Given the description of an element on the screen output the (x, y) to click on. 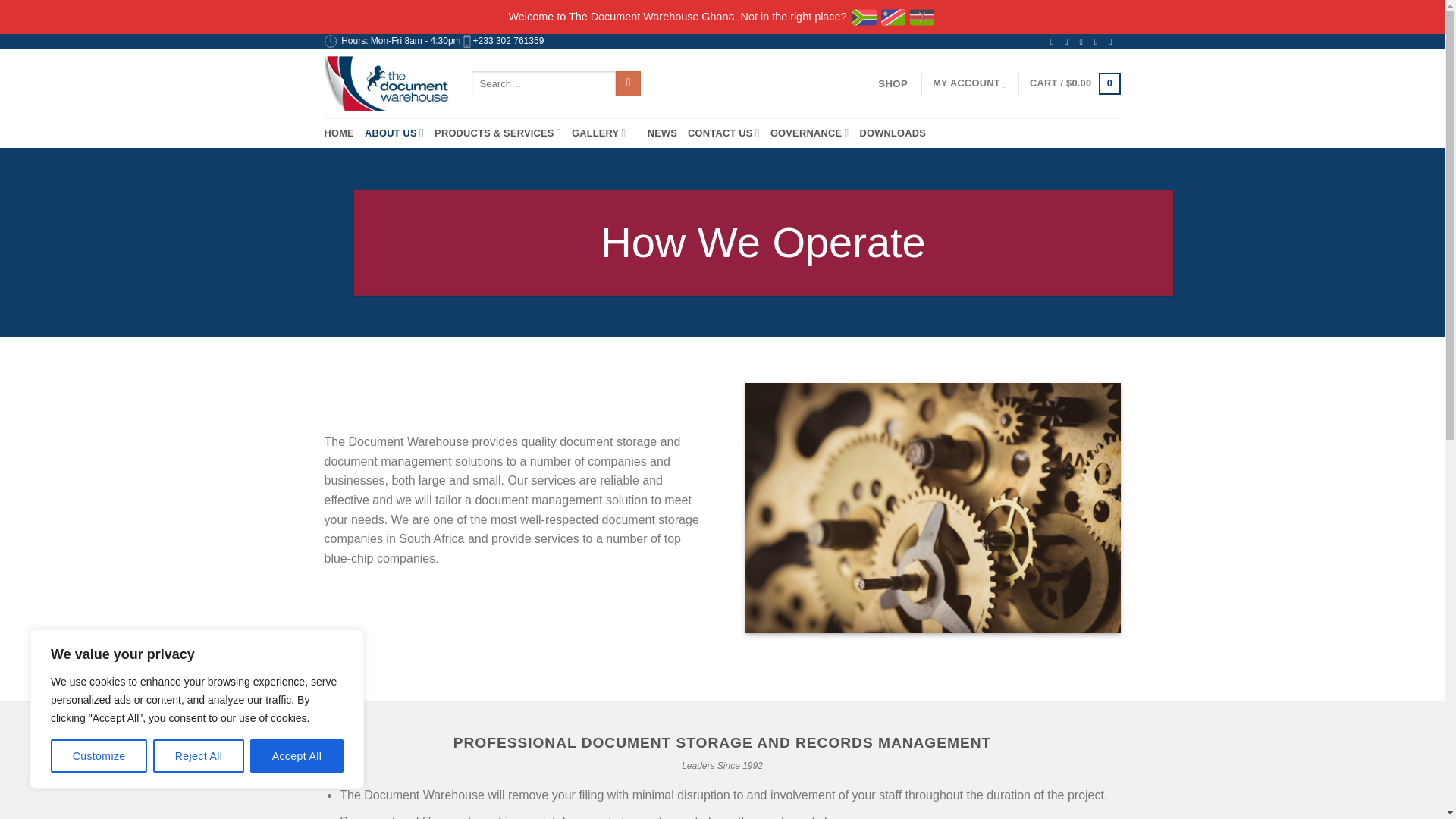
Reject All (198, 756)
MY ACCOUNT (970, 82)
HOME (338, 133)
Cart (1074, 84)
Search (627, 84)
Customize (98, 756)
SHOP (893, 84)
ABOUT US (394, 132)
Accept All (296, 756)
